Given the description of an element on the screen output the (x, y) to click on. 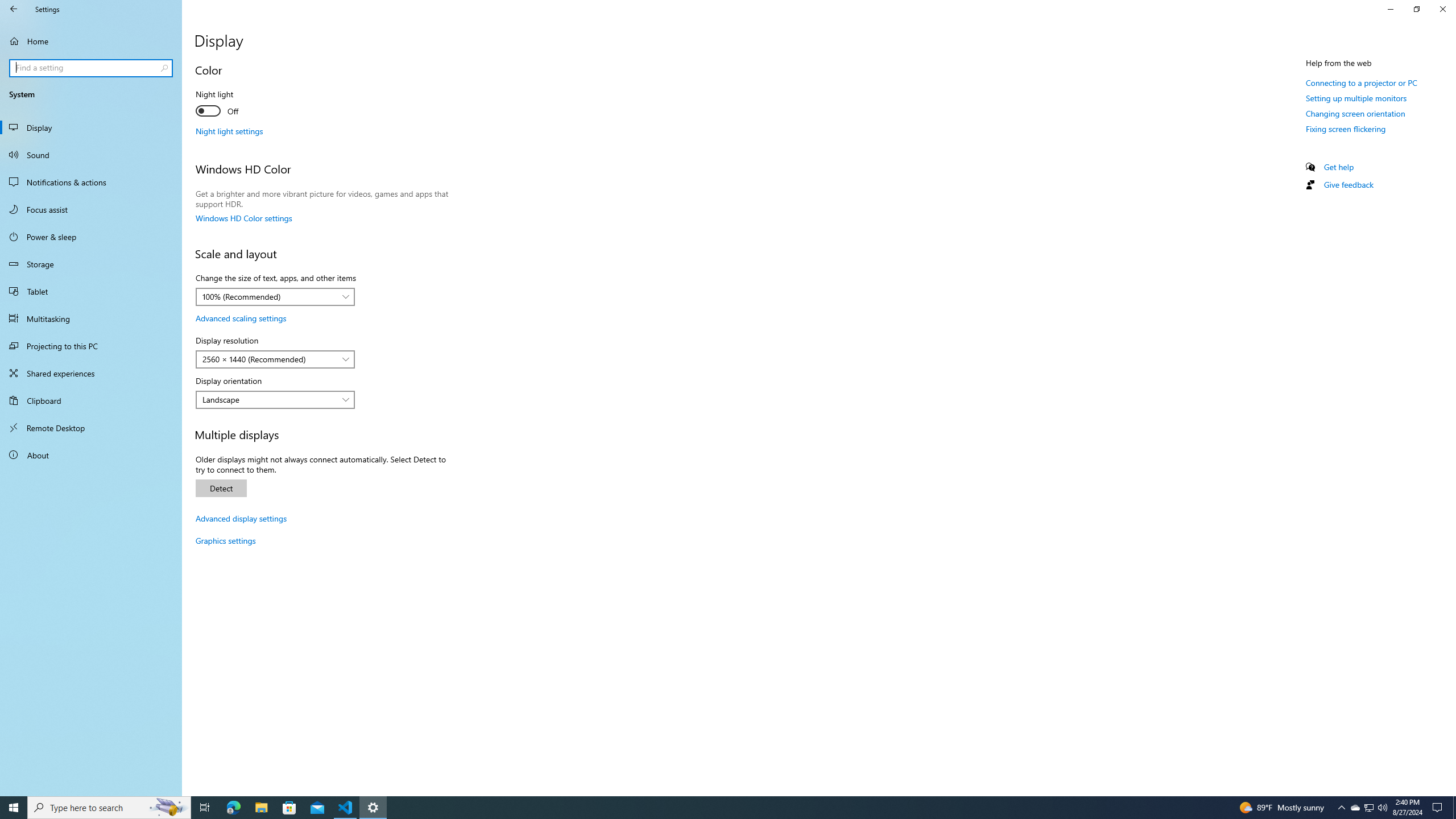
Shared experiences (91, 372)
Graphics settings (225, 540)
Power & sleep (91, 236)
Advanced display settings (240, 518)
